Given the description of an element on the screen output the (x, y) to click on. 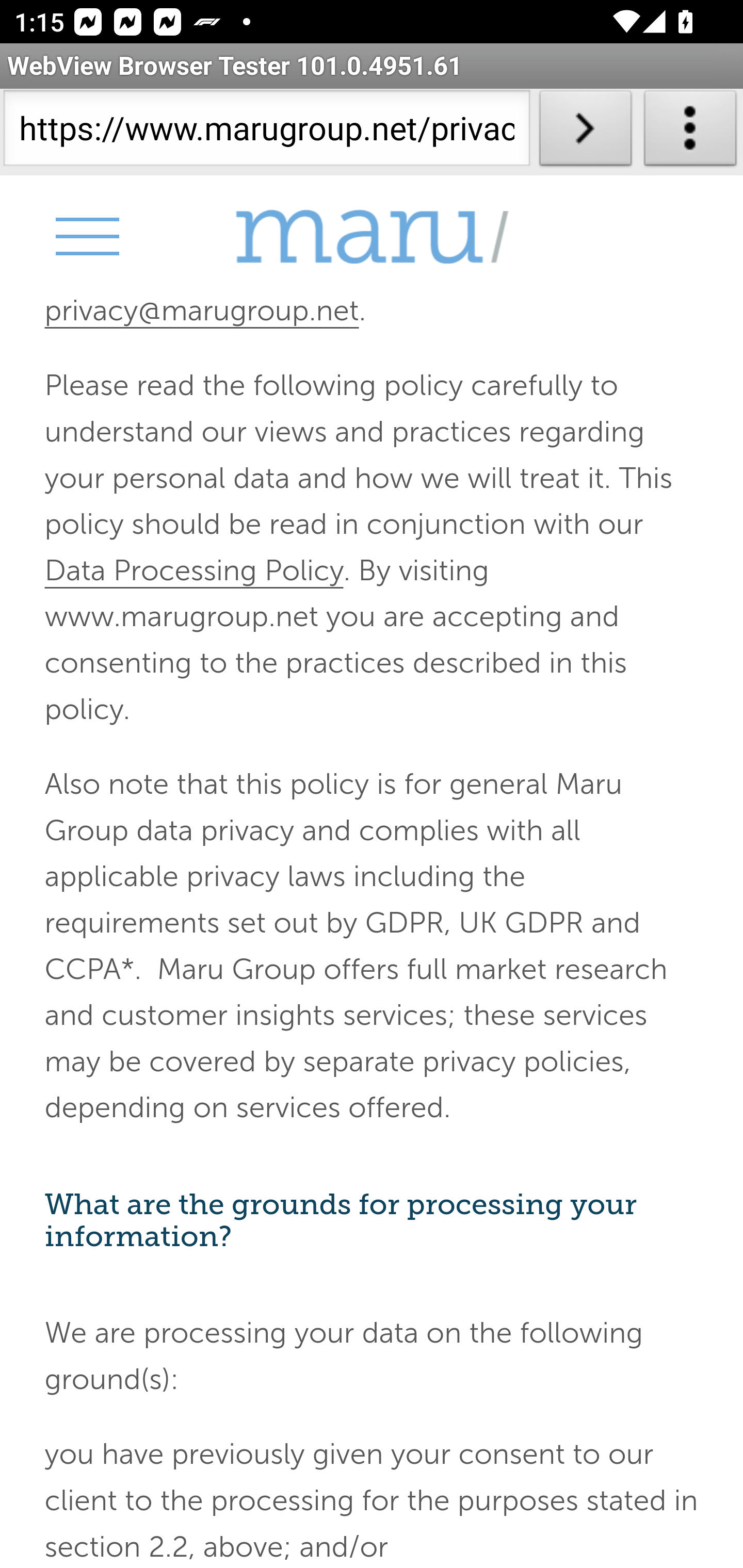
https://www.marugroup.net/privacy-policy/ (266, 132)
Load URL (585, 132)
About WebView (690, 132)
Open Menu (86, 236)
Maru Group (371, 237)
privacy@marugroup.net (200, 311)
Data Processing Policy (193, 569)
